Given the description of an element on the screen output the (x, y) to click on. 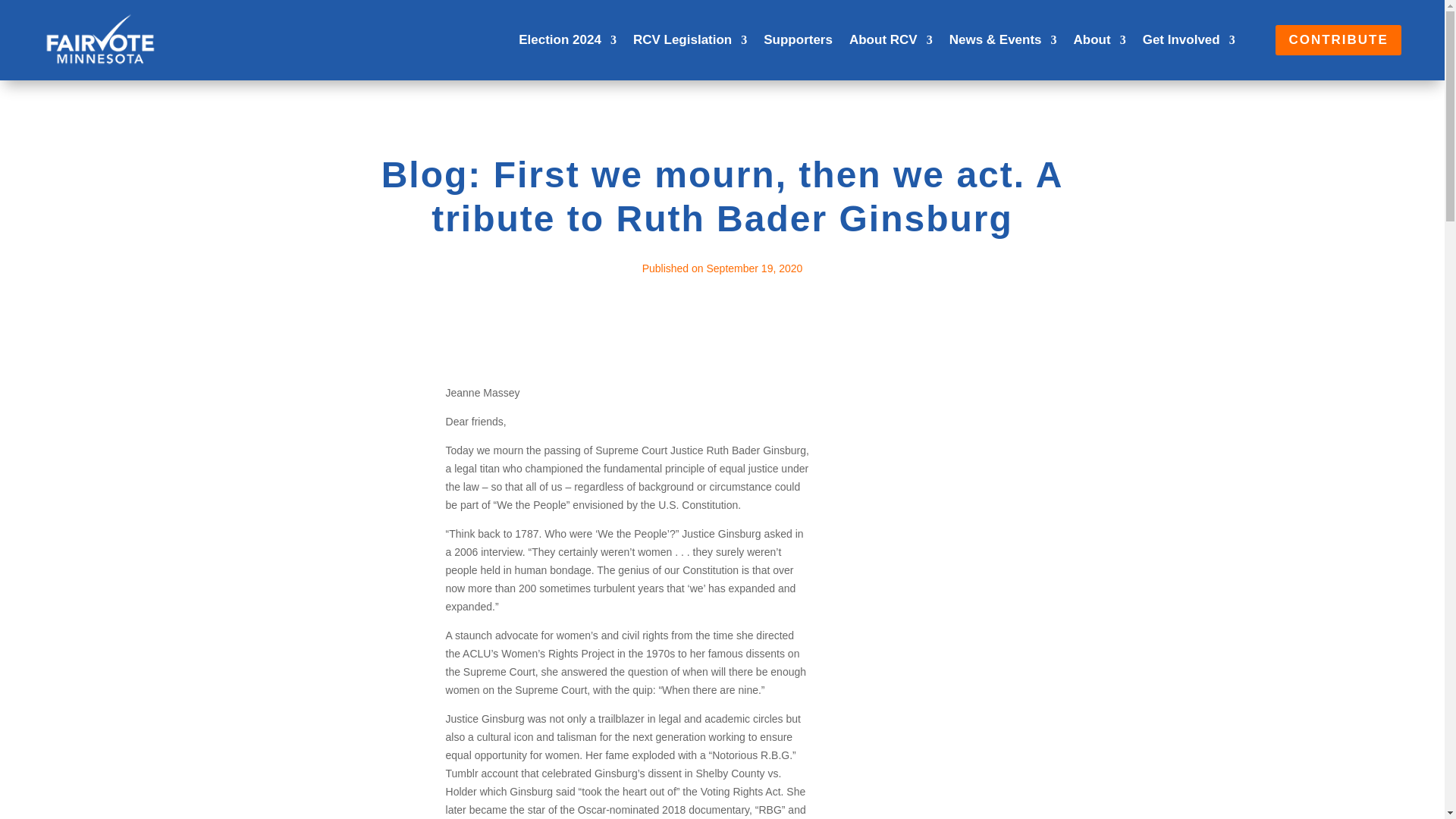
About (1099, 39)
Get Involved (1188, 39)
RCV Legislation (689, 39)
Supporters (797, 39)
Election 2024 (566, 39)
About RCV (890, 39)
